Given the description of an element on the screen output the (x, y) to click on. 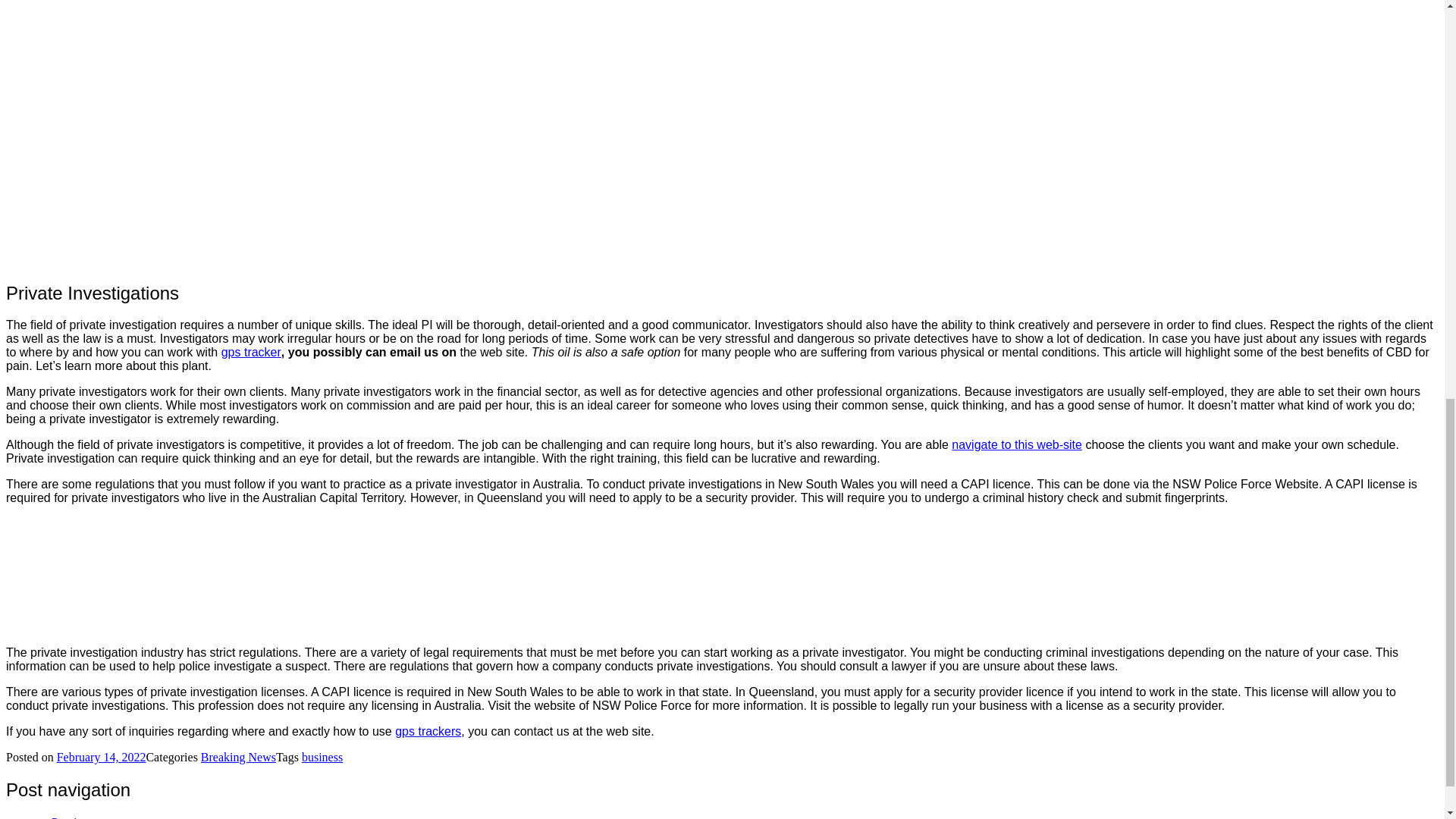
business (321, 757)
February 14, 2022 (101, 757)
Breaking News (238, 757)
gps tracker (251, 351)
Previous Previous post: Different types of security cameras (149, 817)
navigate to this web-site (1016, 444)
gps trackers (427, 730)
